Given the description of an element on the screen output the (x, y) to click on. 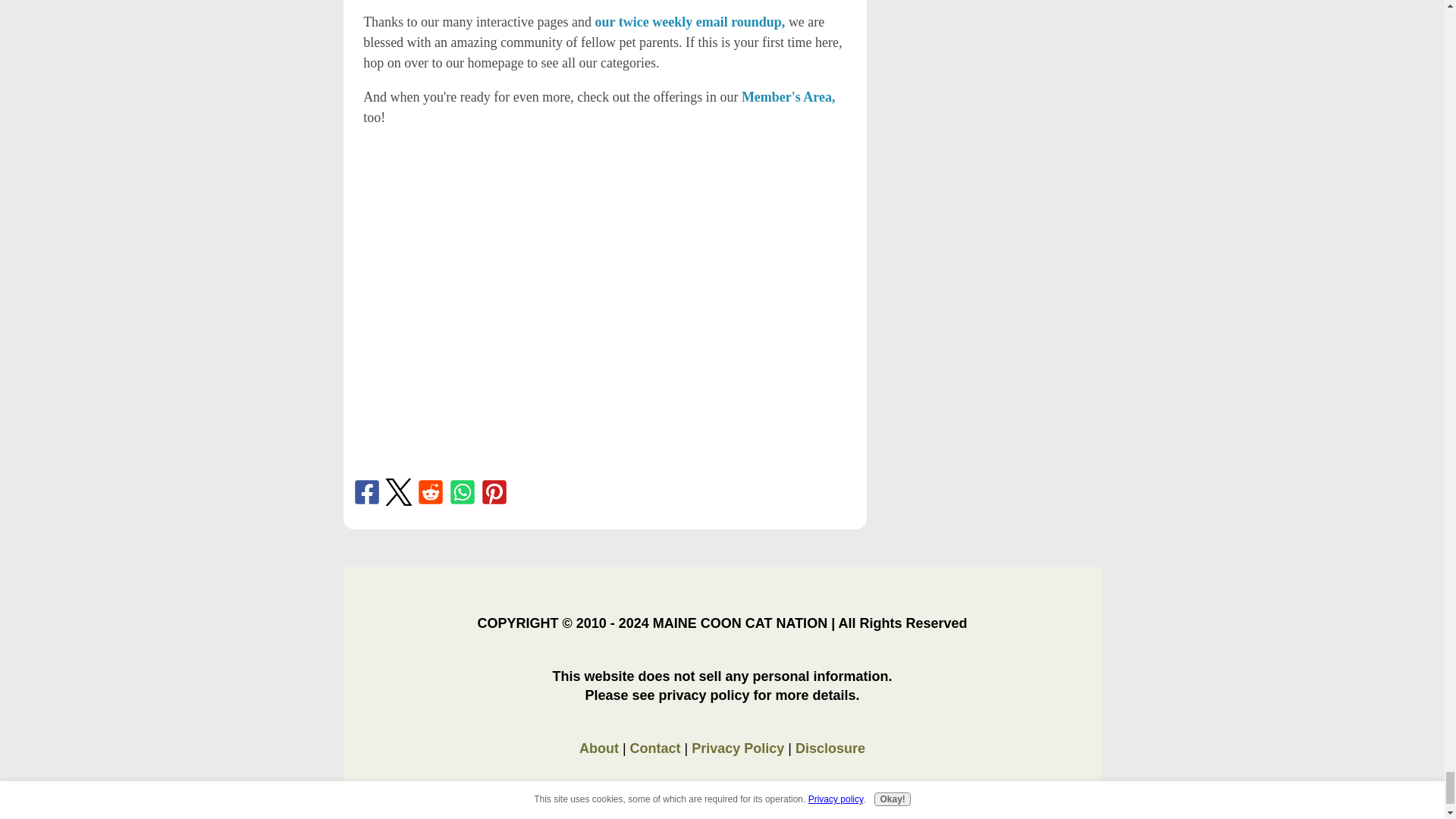
our twice weekly email roundup, (690, 21)
Boutique (722, 222)
Have a PAWSitive Day (602, 379)
Member's Area (483, 222)
Go to Welcome to Our Maine Coon Community! (483, 283)
Member's Area, (788, 96)
